Given the description of an element on the screen output the (x, y) to click on. 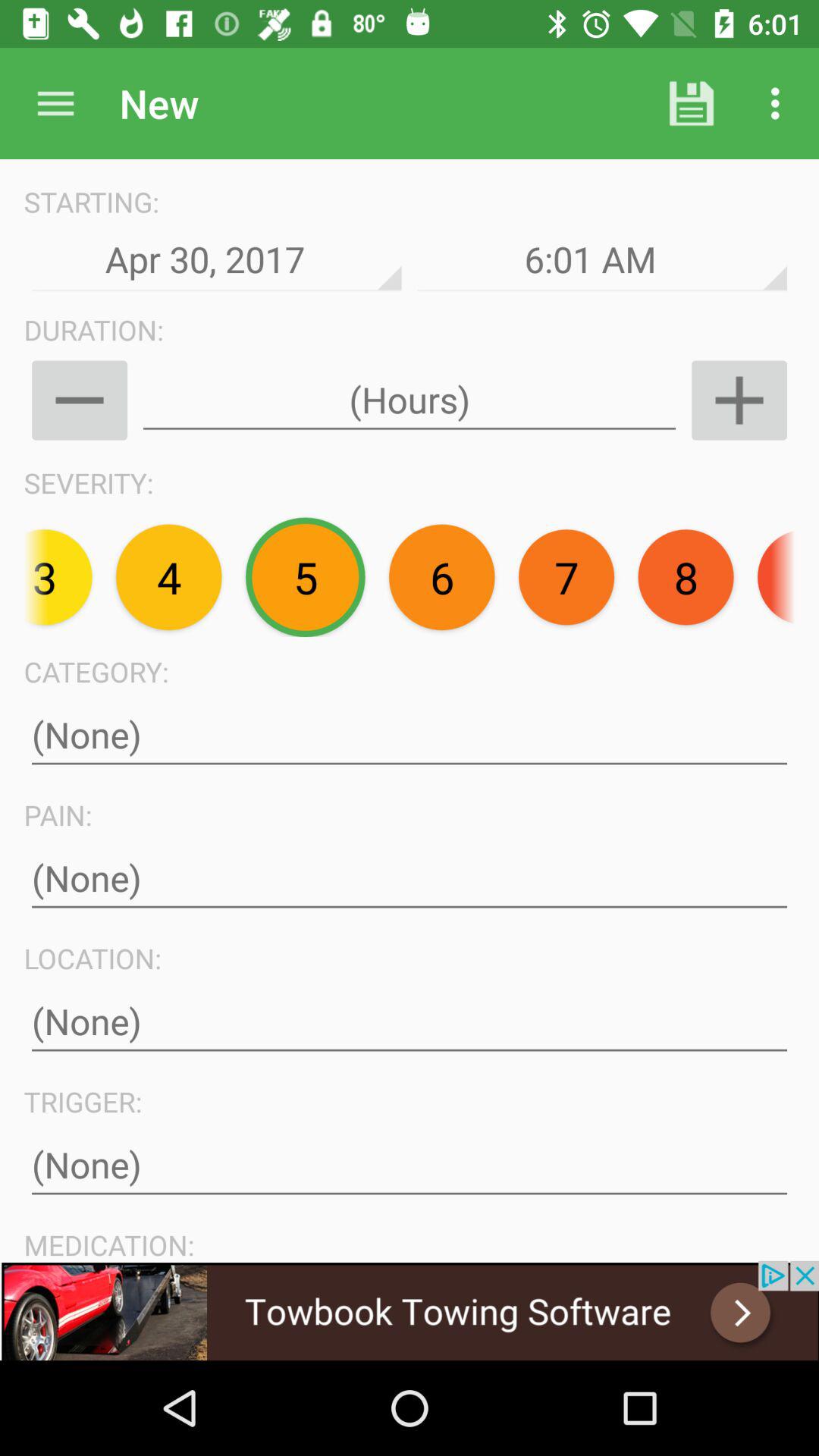
category label (409, 735)
